Given the description of an element on the screen output the (x, y) to click on. 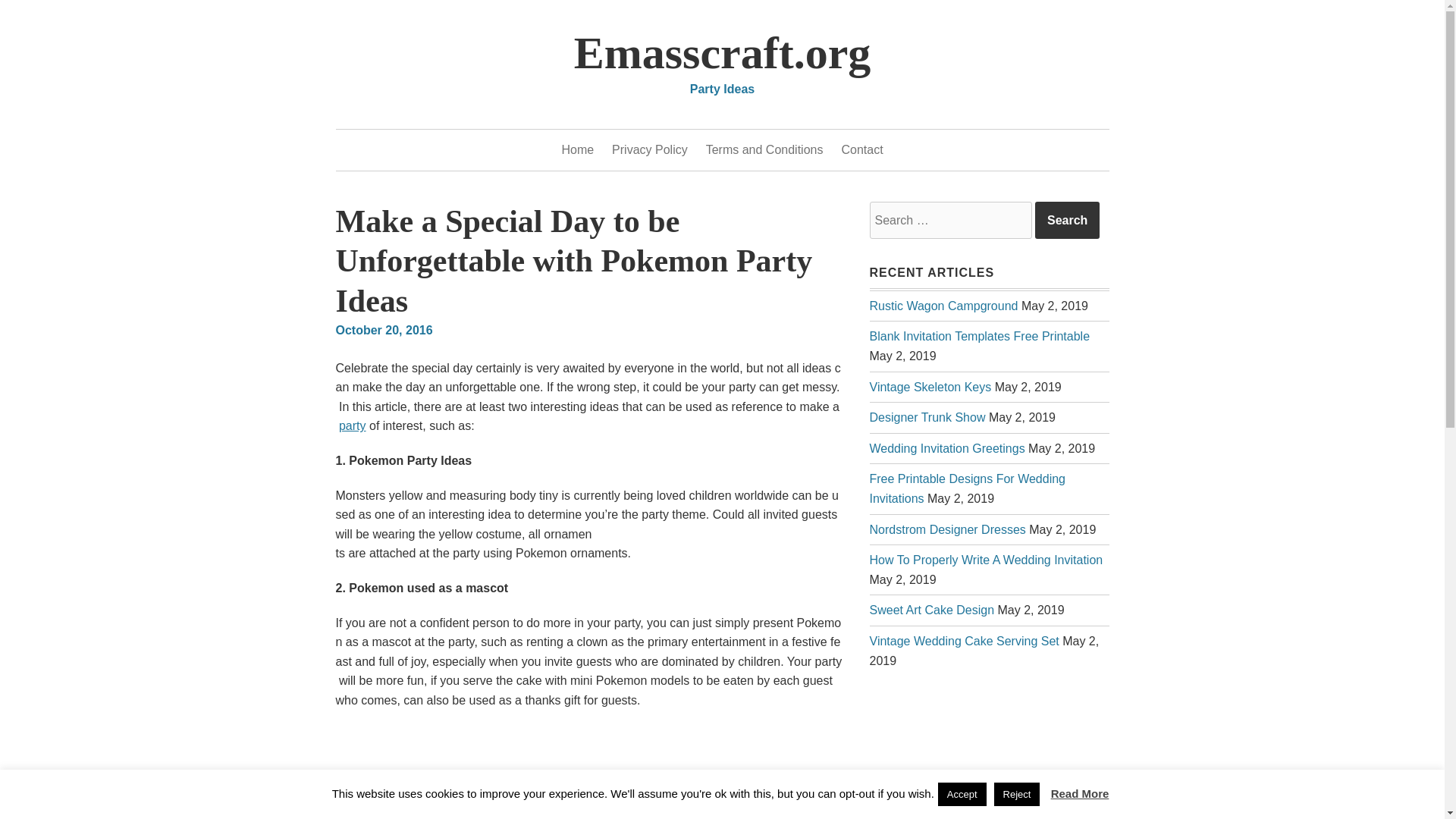
Terms and Conditions (765, 149)
Search (1067, 220)
Reject (1017, 793)
Rustic Wagon Campground (943, 305)
Free Printable Designs For Wedding Invitations (967, 488)
Search (1067, 220)
Contact (861, 149)
Accept (962, 793)
Vintage Wedding Cake Serving Set (963, 640)
Vintage Skeleton Keys (1080, 793)
Nordstrom Designer Dresses (930, 386)
Home (947, 529)
Search (577, 149)
